Given the description of an element on the screen output the (x, y) to click on. 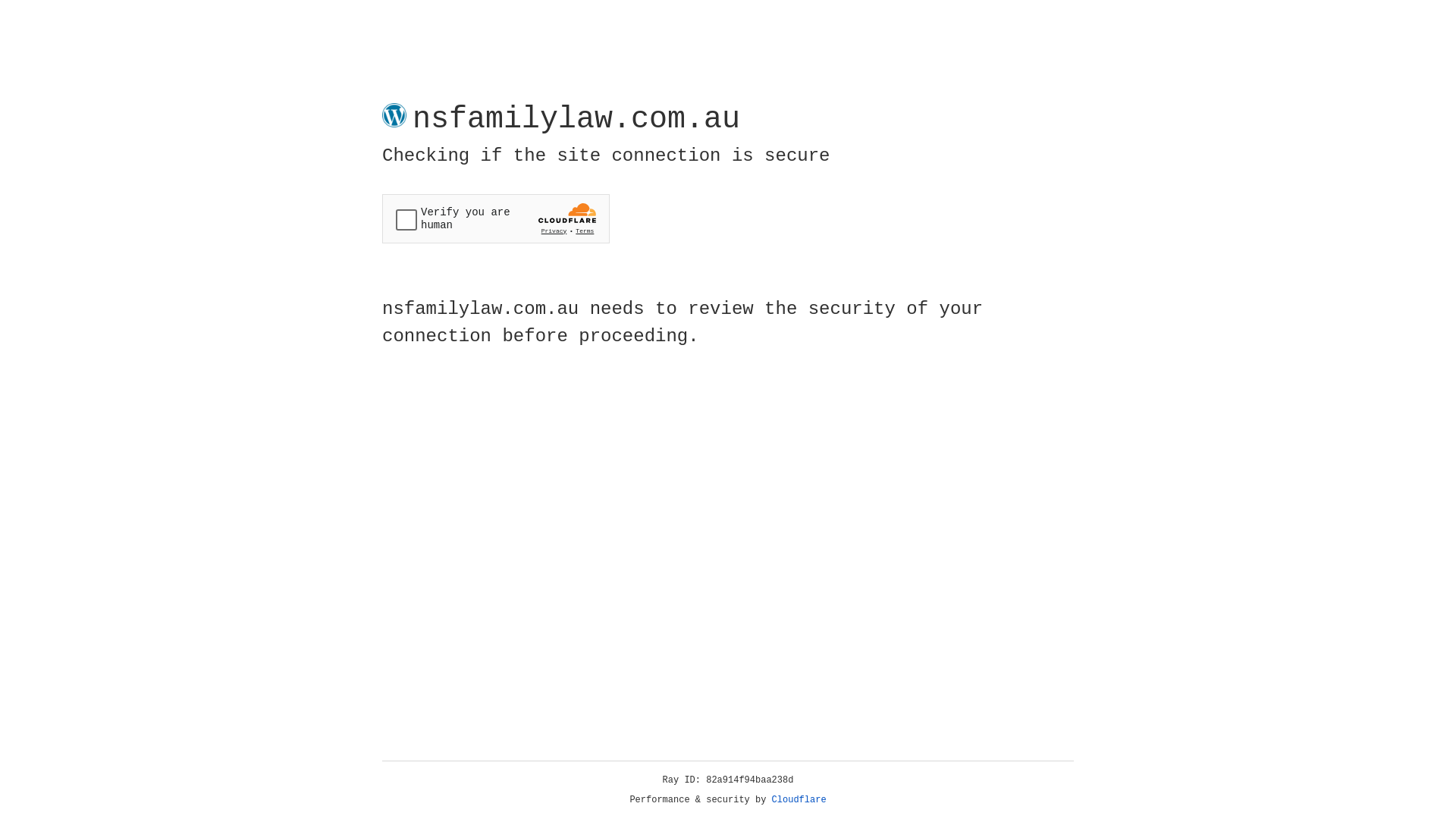
Widget containing a Cloudflare security challenge Element type: hover (495, 218)
Cloudflare Element type: text (798, 799)
